Given the description of an element on the screen output the (x, y) to click on. 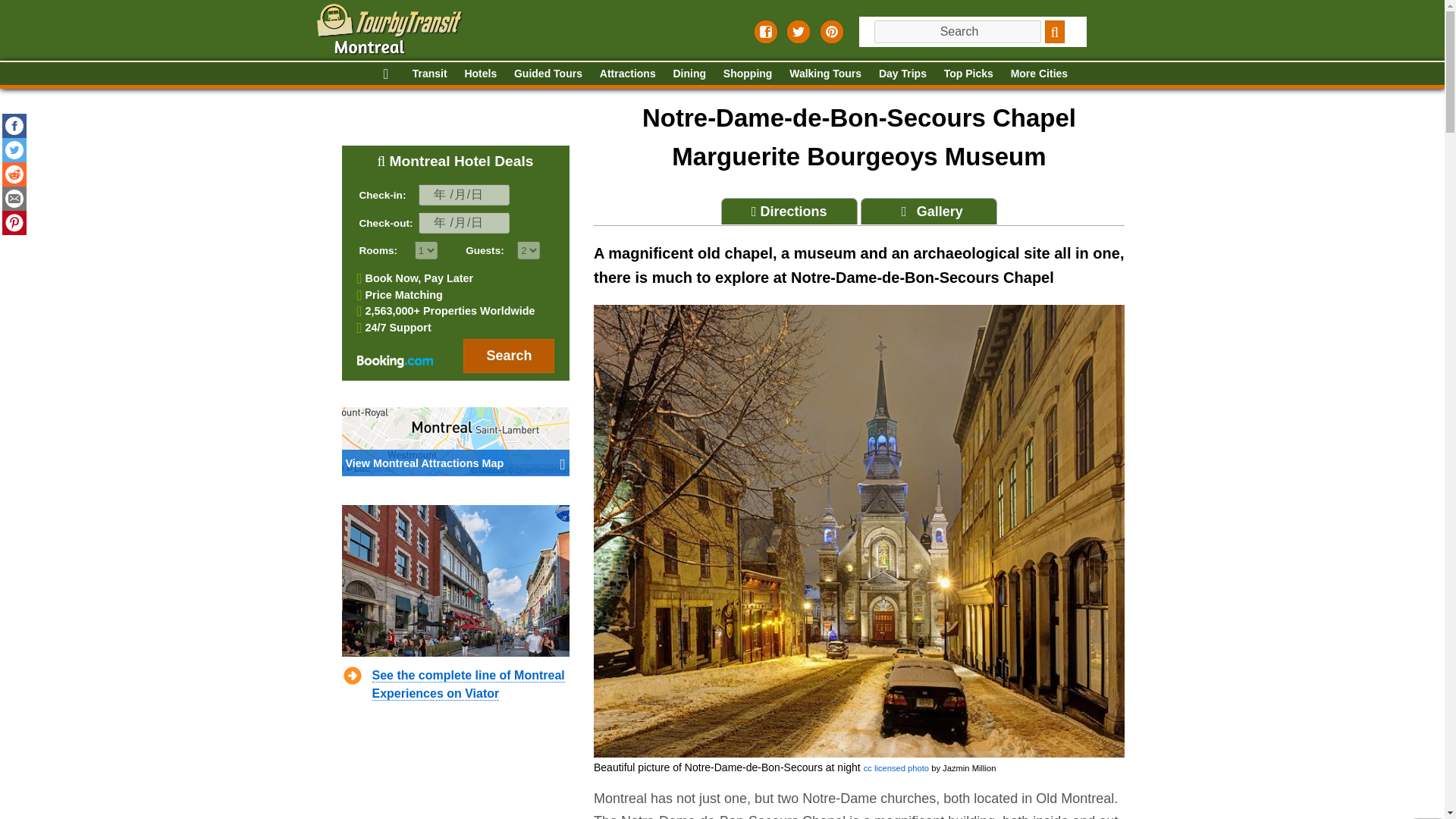
Hotels (480, 73)
Top Picks (968, 73)
Transit (429, 73)
Day Trips (901, 73)
Guided Tours (547, 73)
DuckDuckGo Search (1055, 31)
Directions (789, 211)
cc licensed photo (895, 768)
Shopping (747, 73)
Gallery (928, 211)
